Given the description of an element on the screen output the (x, y) to click on. 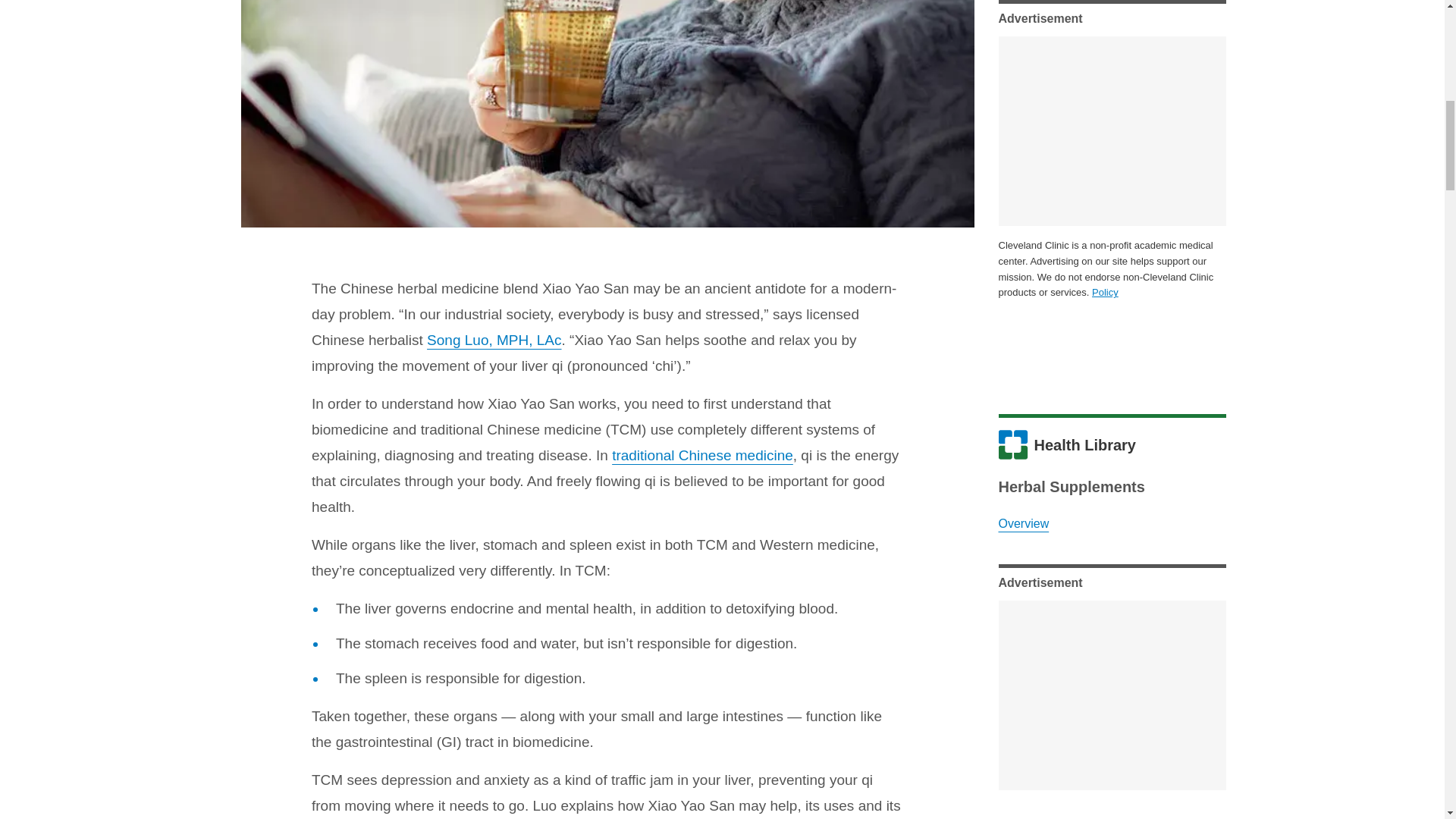
Song Luo, MPH, LAc (493, 340)
traditional Chinese medicine (702, 455)
